Given the description of an element on the screen output the (x, y) to click on. 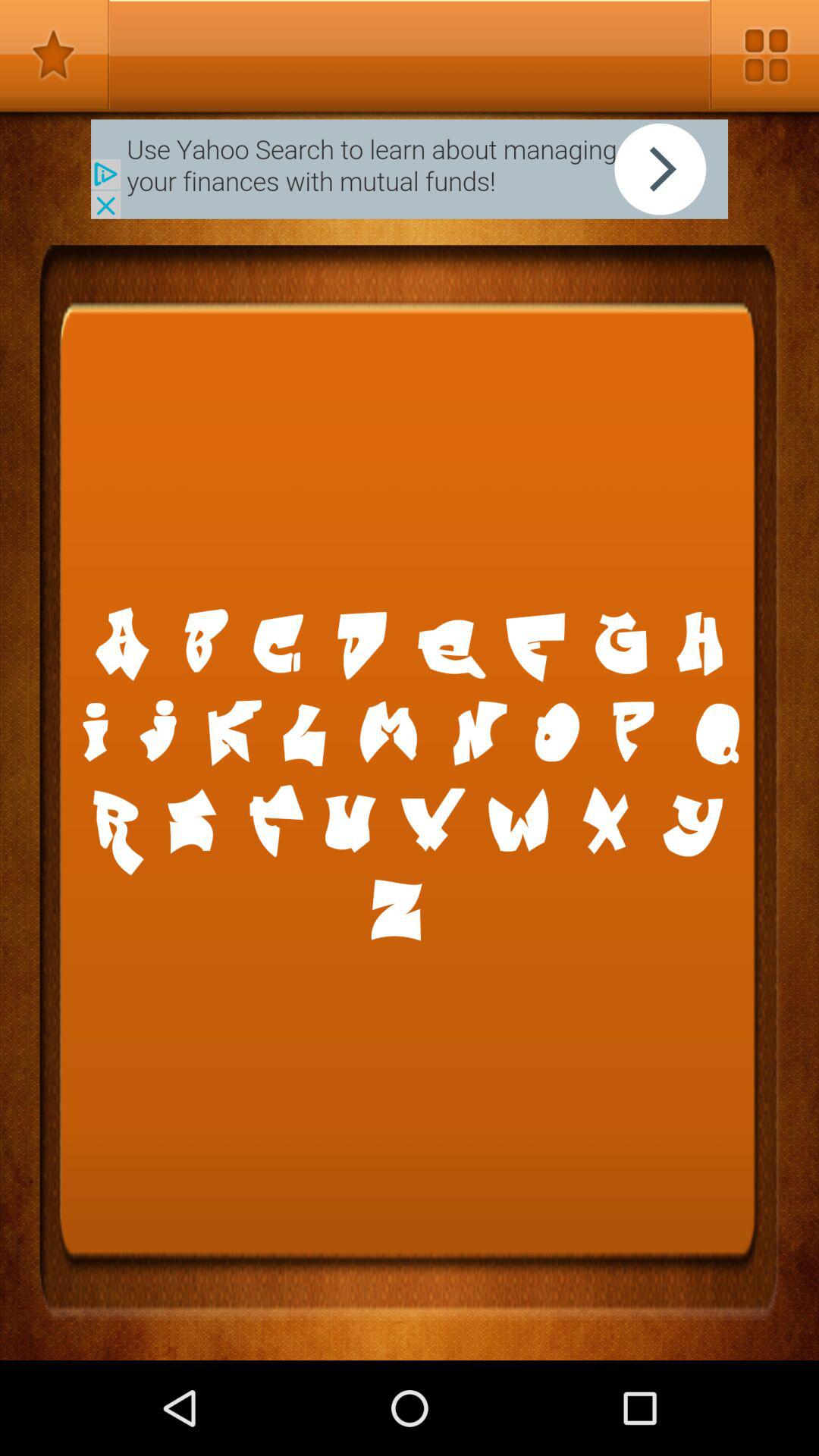
go to rating (54, 54)
